Given the description of an element on the screen output the (x, y) to click on. 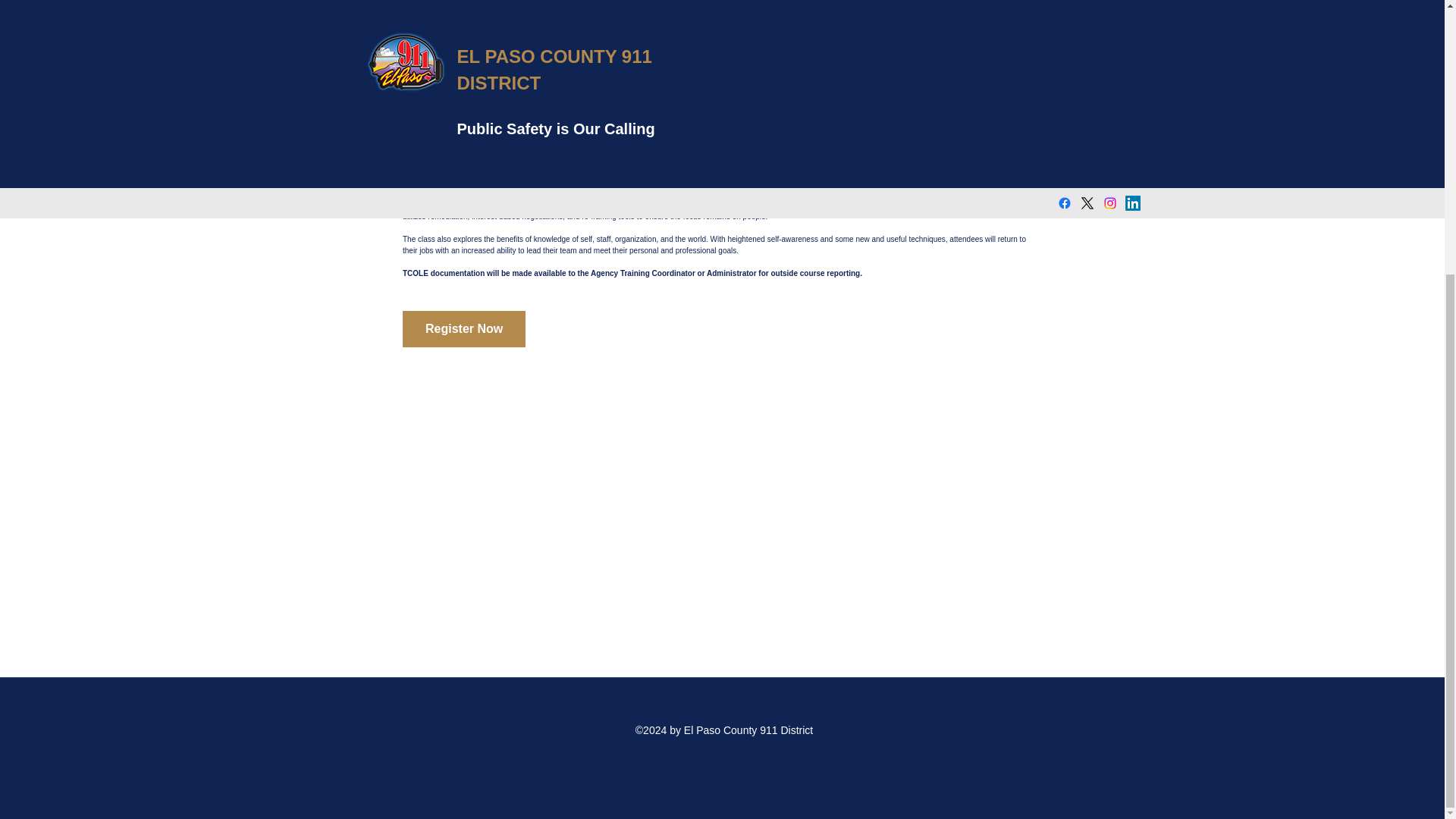
Register Now (464, 329)
